Given the description of an element on the screen output the (x, y) to click on. 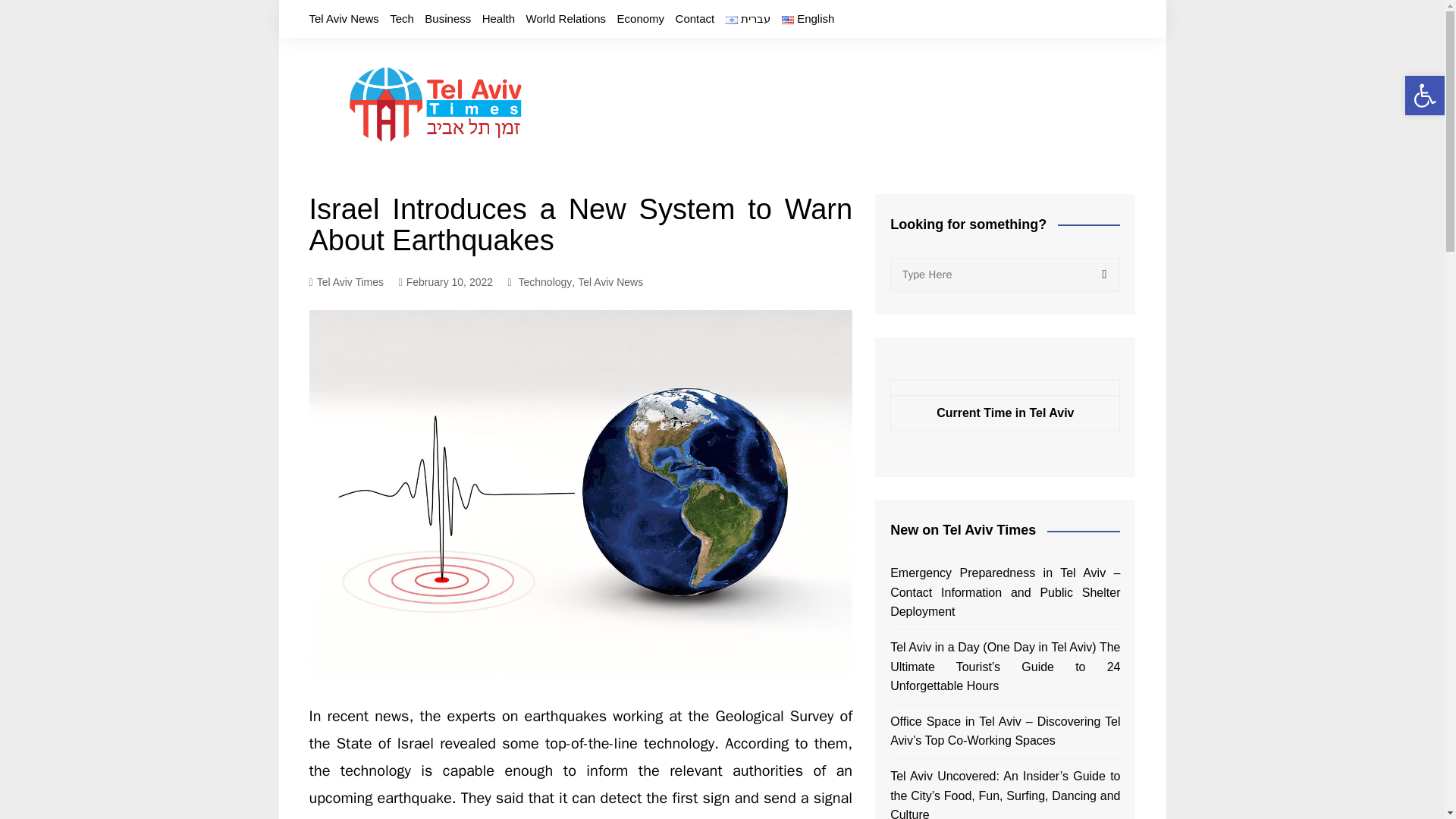
February 10, 2022 (445, 282)
Contact (694, 18)
Tel Aviv Times (346, 282)
English (807, 18)
Business (447, 18)
Current Time in Tel Aviv (1005, 412)
Tel Aviv time zone (1005, 412)
Accessibility Tools (1424, 95)
Tel Aviv News (343, 18)
Tel Aviv News (610, 281)
